Given the description of an element on the screen output the (x, y) to click on. 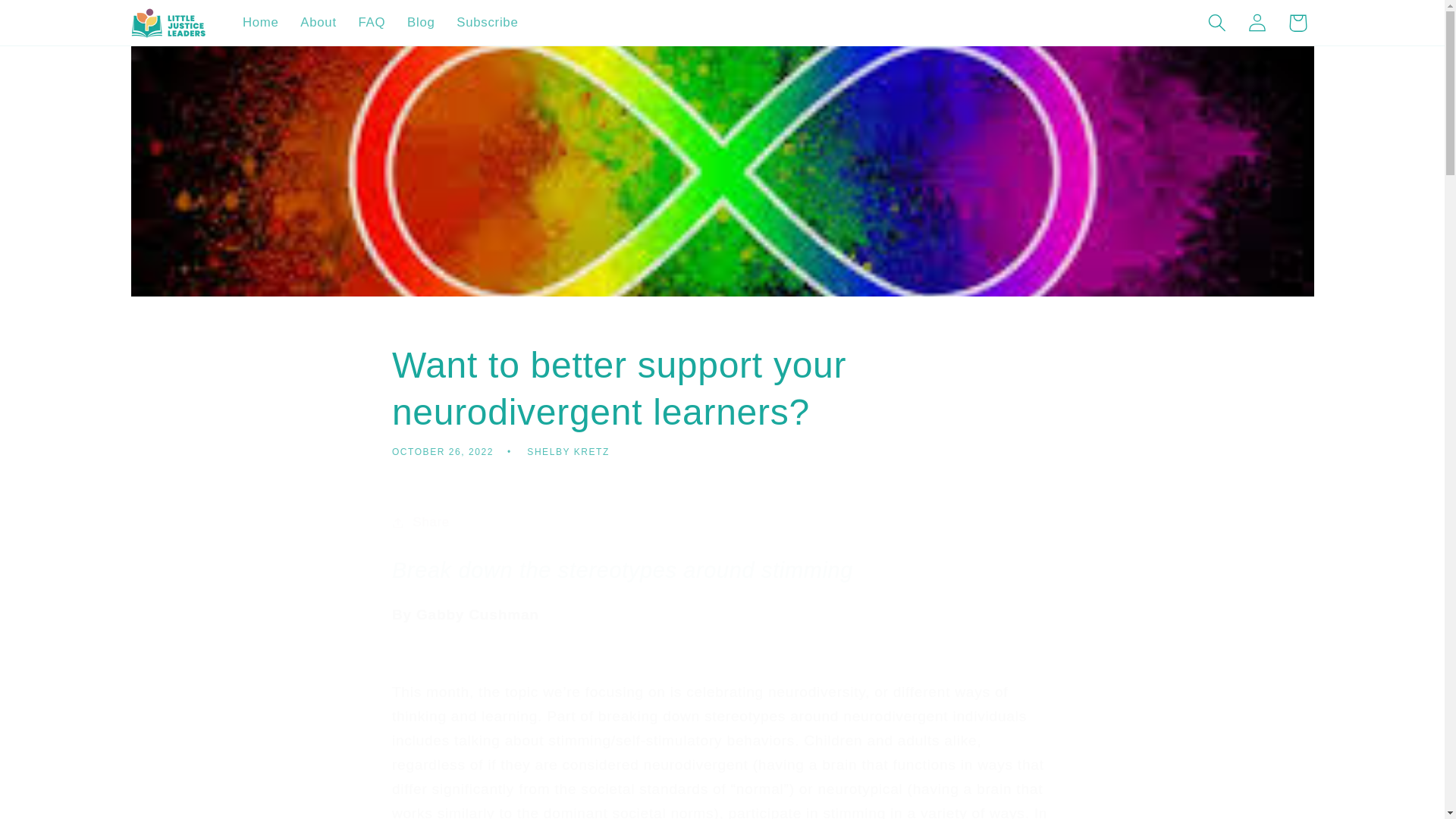
Log in (1257, 23)
Skip to content (59, 25)
About (318, 22)
Share (721, 522)
Subscribe (487, 22)
Home (260, 22)
FAQ (371, 22)
Cart (1296, 23)
Blog (420, 22)
